Given the description of an element on the screen output the (x, y) to click on. 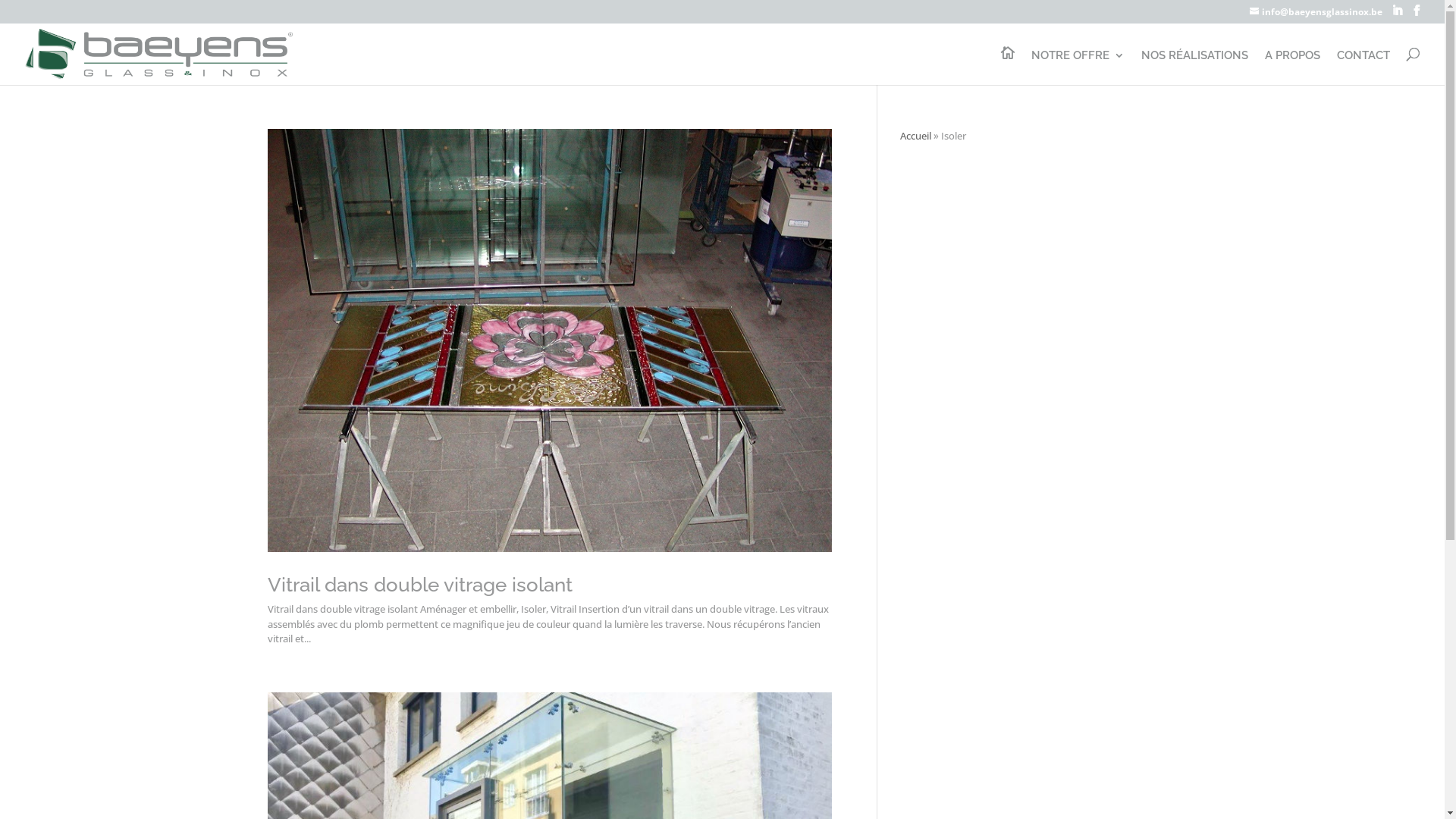
A PROPOS Element type: text (1292, 67)
Accueil Element type: text (914, 135)
Vitrail dans double vitrage isolant Element type: text (418, 584)
NOTRE OFFRE Element type: text (1077, 67)
CONTACT Element type: text (1363, 67)
info@baeyensglassinox.be Element type: text (1315, 11)
